Given the description of an element on the screen output the (x, y) to click on. 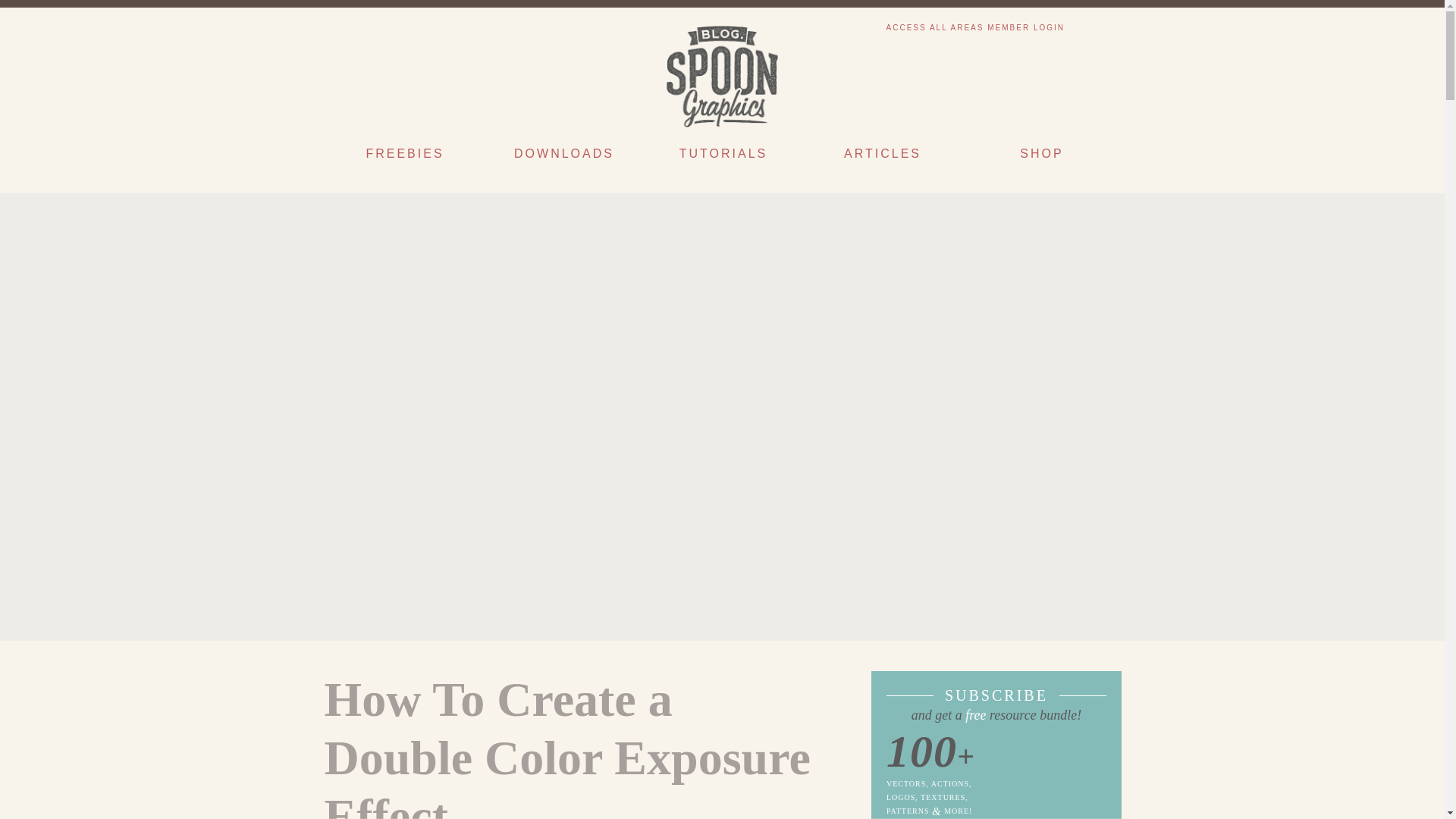
DOWNLOADS (563, 160)
FREEBIES (403, 160)
TUTORIALS (722, 160)
TWITTER (337, 29)
FACEBOOK (366, 29)
PINTEREST (423, 29)
ACCESS ALL AREAS MEMBER LOGIN (975, 27)
ARTICLES (881, 160)
SHOP (1040, 160)
RSS FEED (1087, 27)
